Given the description of an element on the screen output the (x, y) to click on. 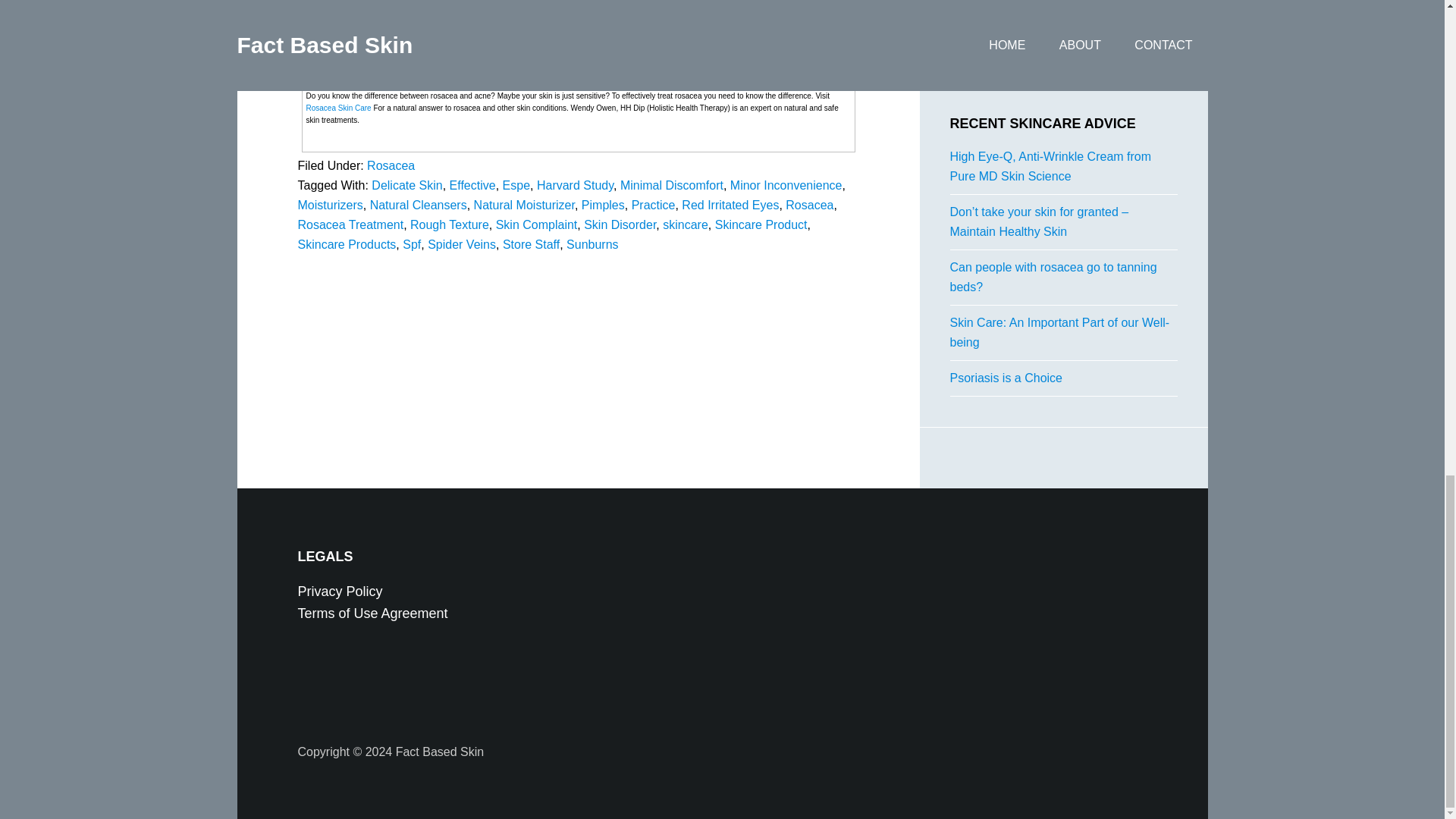
Rough Texture (449, 224)
skincare (684, 224)
Moisturizers (329, 205)
Spf (411, 244)
Skincare Product (761, 224)
Skincare Products (346, 244)
Rosacea Treatment (350, 224)
Red Irritated Eyes (729, 205)
Minor Inconvenience (786, 185)
Natural Cleansers (418, 205)
Skin Complaint (537, 224)
Rosacea (390, 164)
Spider Veins (462, 244)
Rosacea (809, 205)
Sunburns (592, 244)
